Given the description of an element on the screen output the (x, y) to click on. 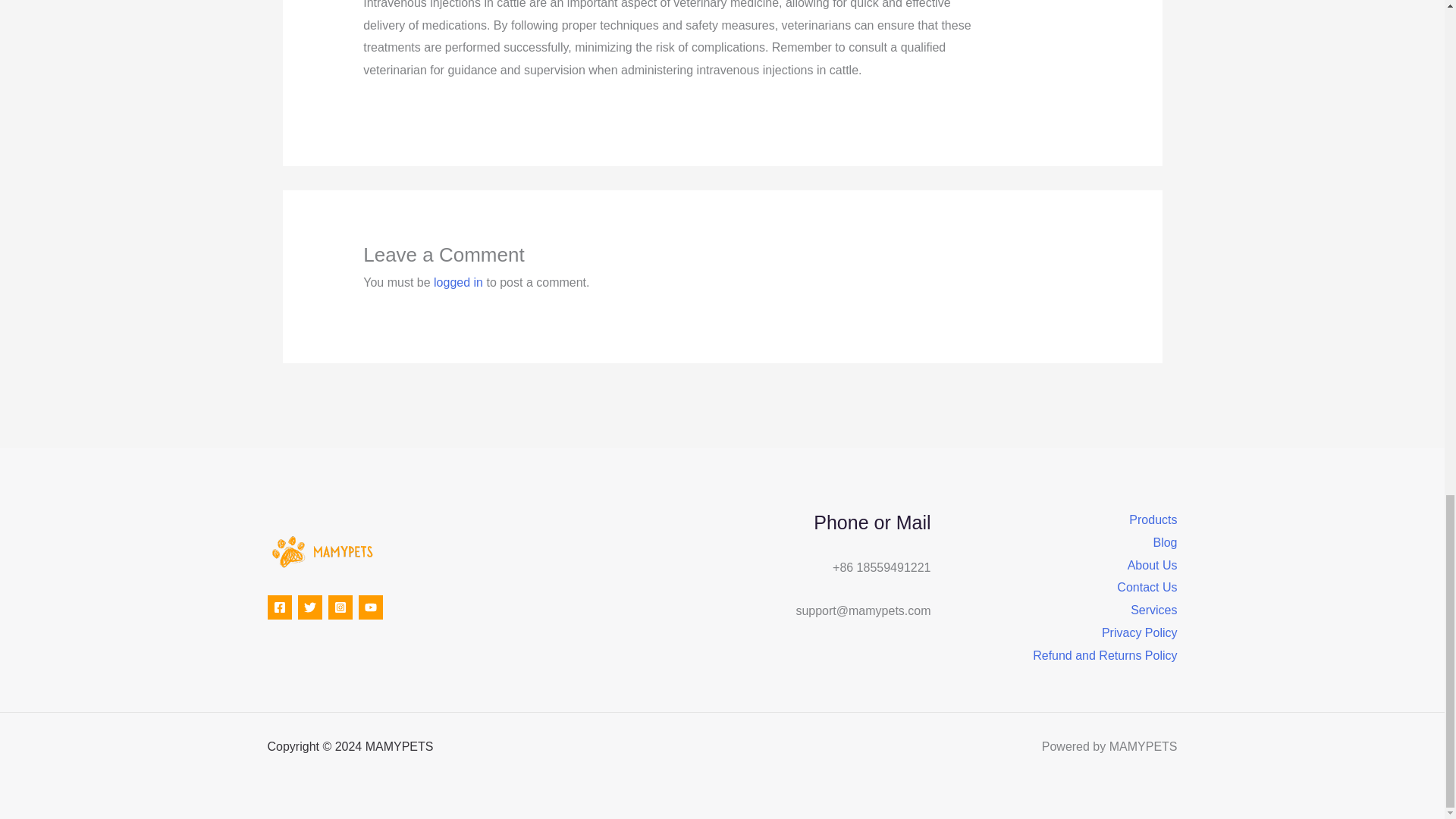
About Us (1151, 565)
Blog (1164, 542)
Contact Us (1146, 587)
Refund and Returns Policy (1104, 655)
Services (1153, 609)
Privacy Policy (1139, 632)
logged in (458, 282)
Products (1152, 519)
